Given the description of an element on the screen output the (x, y) to click on. 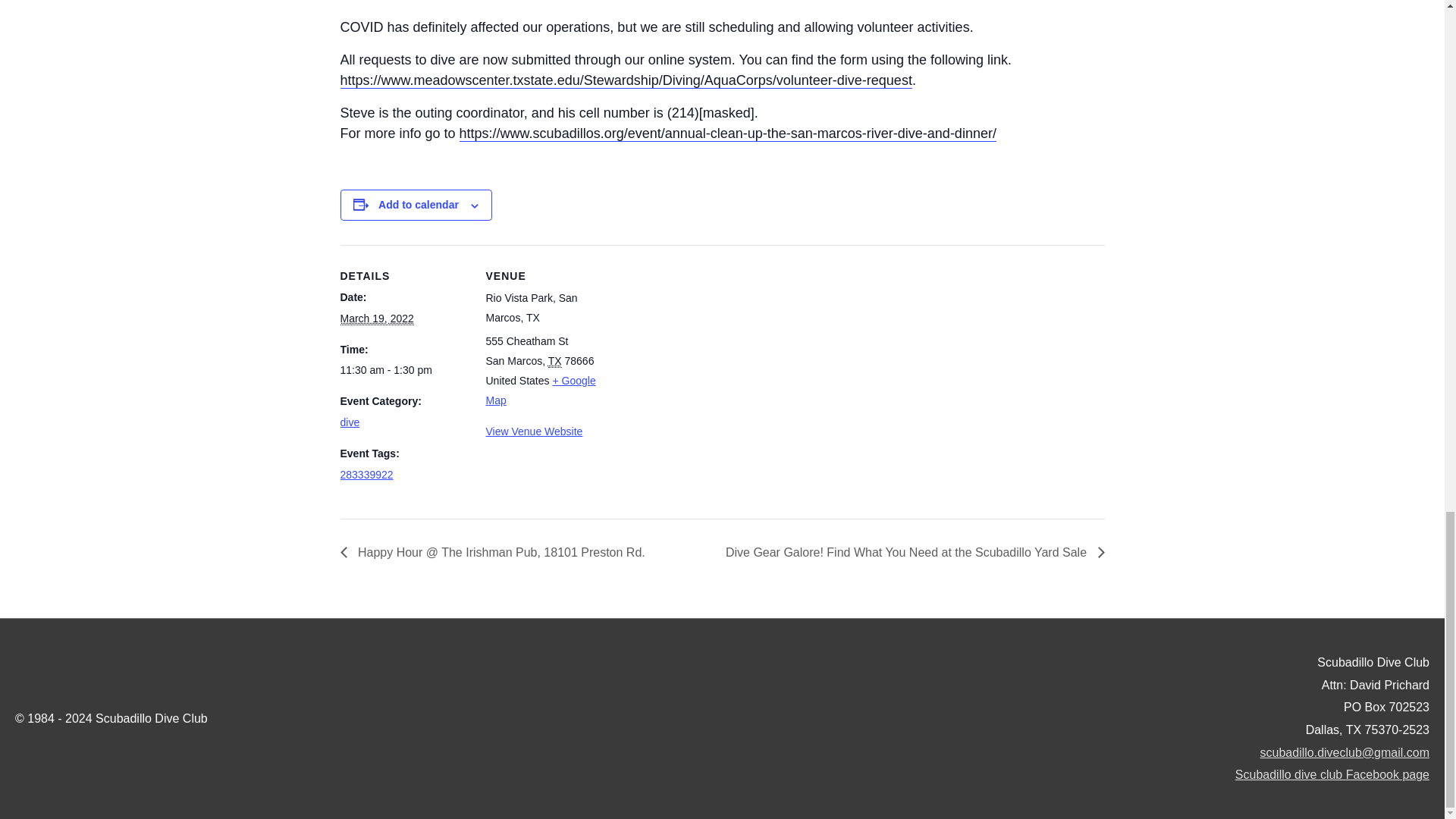
Texas (555, 360)
Click to view a Google Map (539, 390)
2022-03-19 (376, 318)
2022-03-19 (403, 370)
Add to calendar (418, 204)
